Given the description of an element on the screen output the (x, y) to click on. 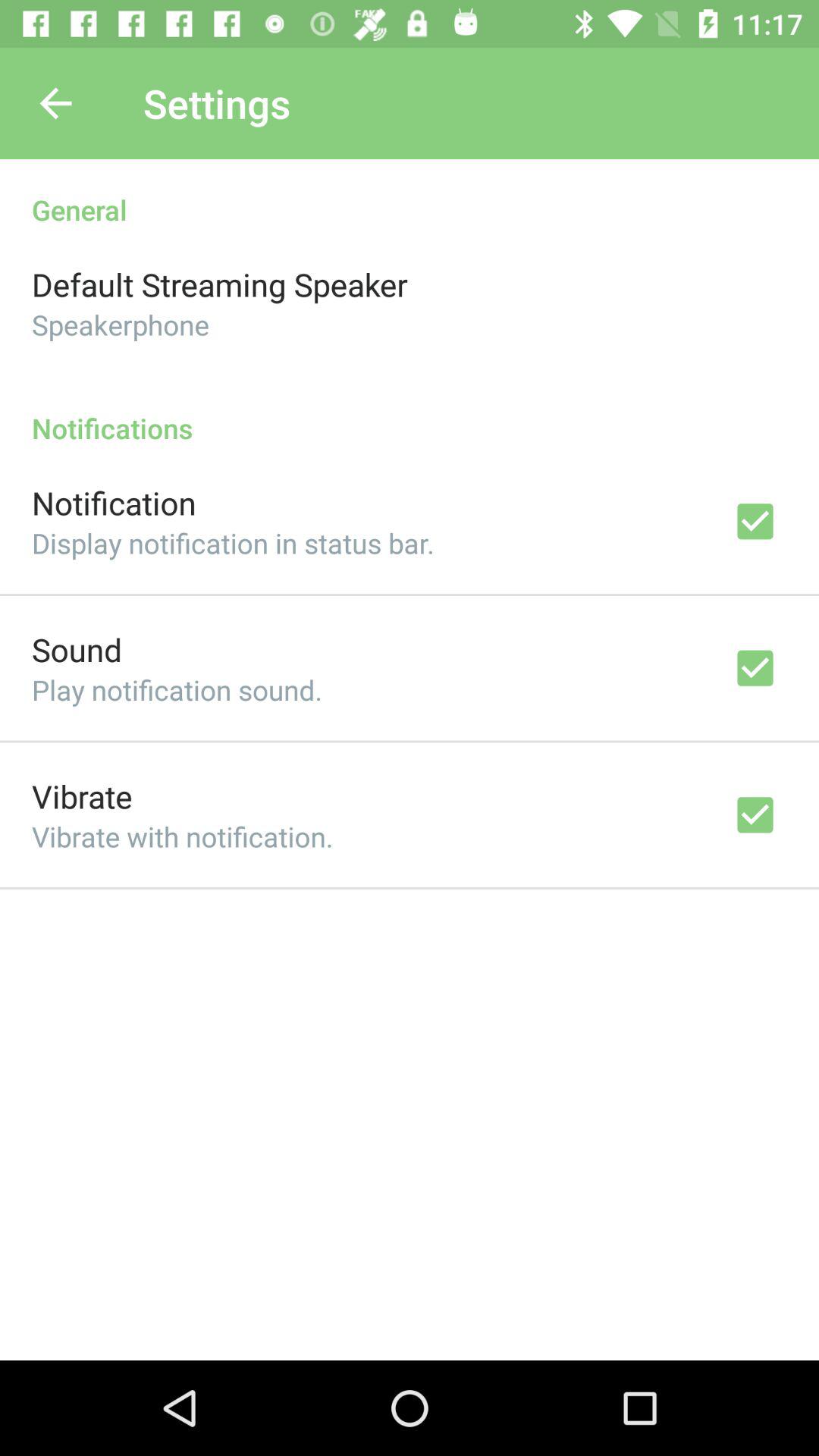
launch the icon above speakerphone (219, 283)
